Given the description of an element on the screen output the (x, y) to click on. 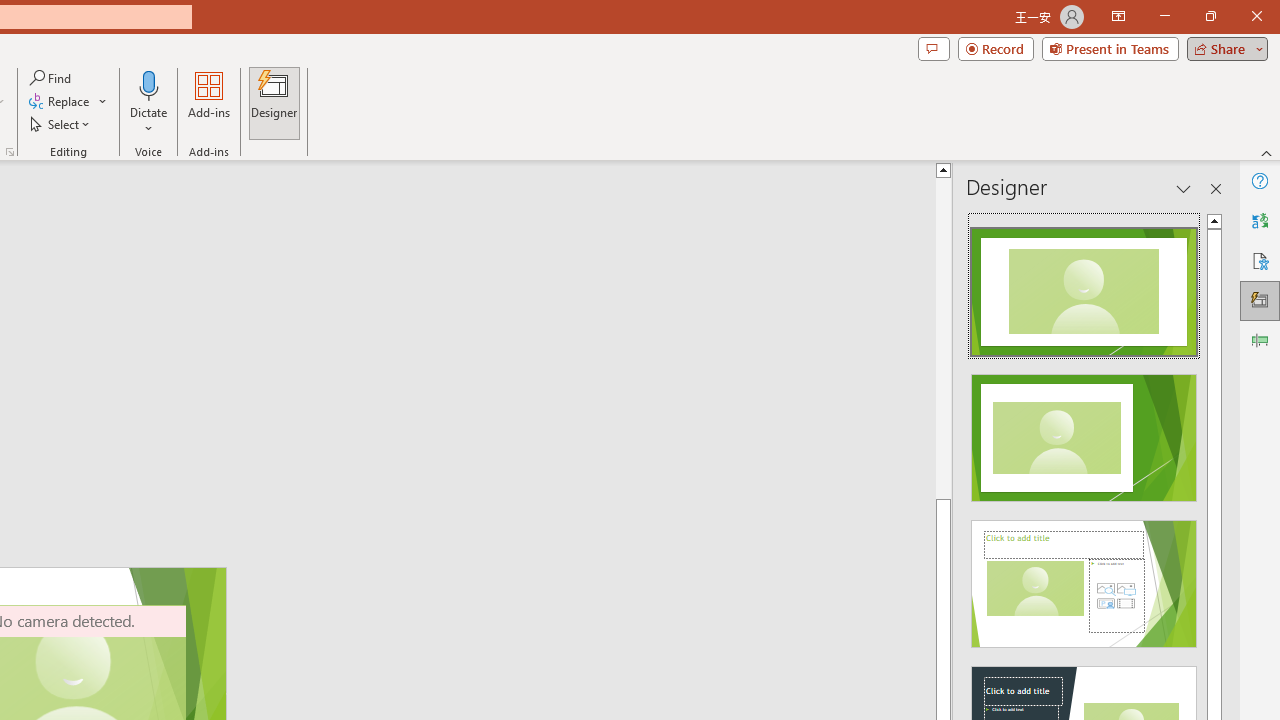
Recommended Design: Design Idea (1083, 286)
